Given the description of an element on the screen output the (x, y) to click on. 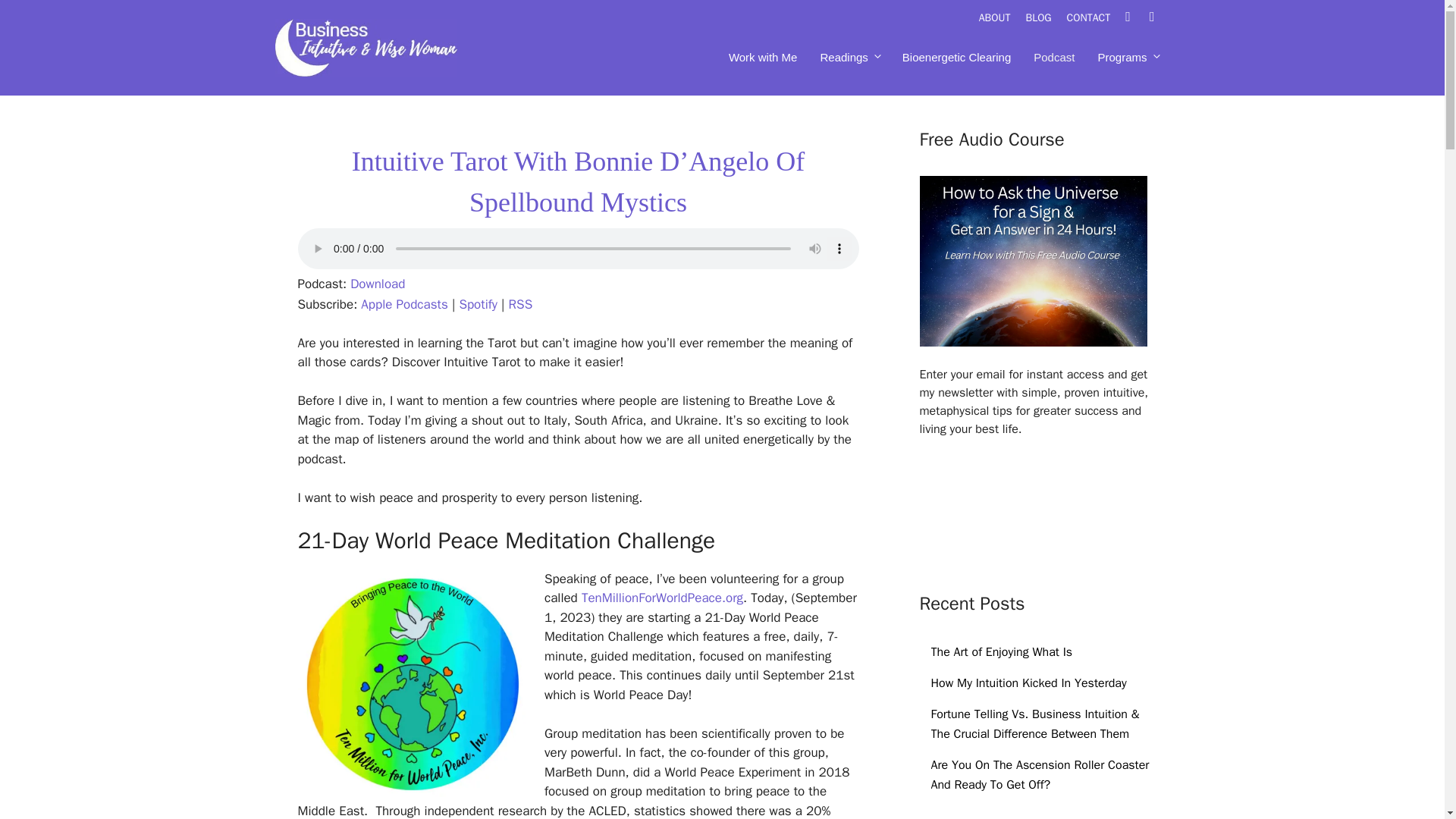
ABOUT (1002, 17)
Apple Podcasts (403, 304)
Subscribe on Apple Podcasts (403, 304)
CONTACT (1096, 17)
BLOG (1045, 17)
Readings (848, 57)
Subscribe via RSS (520, 304)
Programs (1127, 57)
Subscribe on Spotify (477, 304)
Spotify (477, 304)
